Given the description of an element on the screen output the (x, y) to click on. 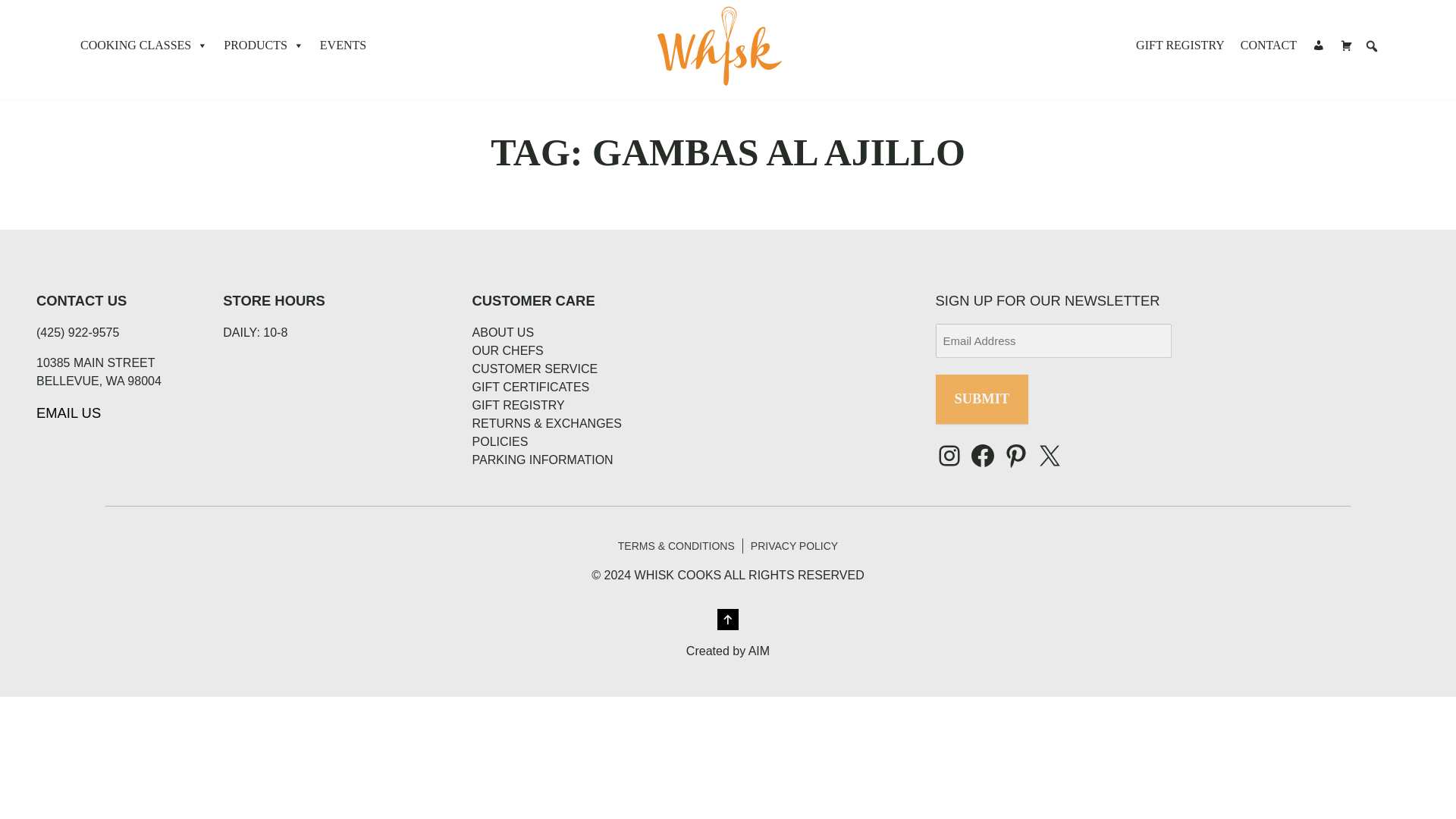
PRODUCTS (263, 45)
GIFT REGISTRY (1179, 45)
Submit (982, 399)
CONTACT (1268, 45)
COOKING CLASSES (143, 45)
EVENTS (343, 45)
Cart (1346, 45)
My Account (1318, 45)
